Given the description of an element on the screen output the (x, y) to click on. 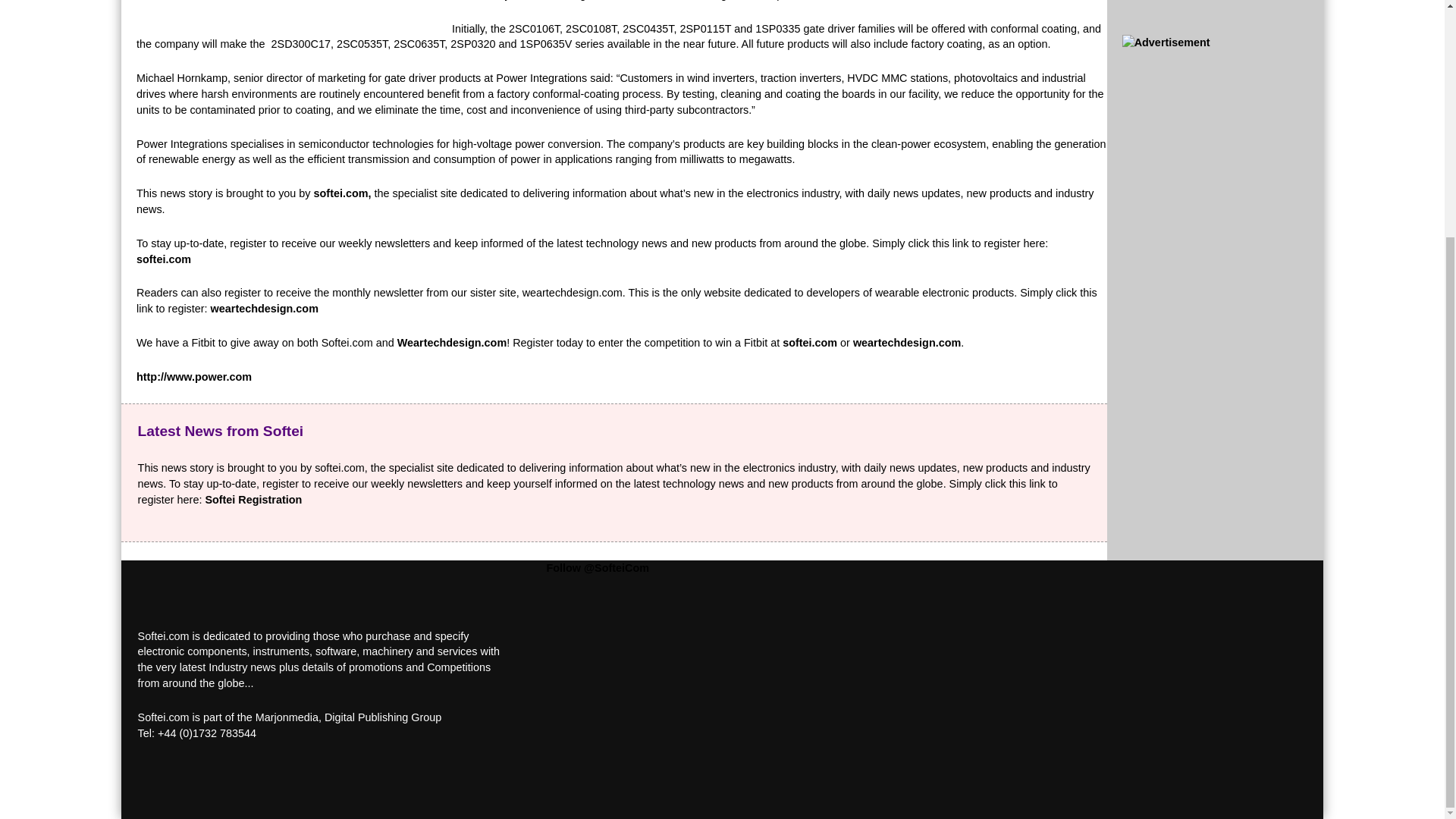
softei.com (163, 259)
Weartechdesign.com (451, 342)
weartechdesign.com (906, 342)
Softei Registration (253, 499)
weartechdesign.com (264, 308)
softei.com (810, 342)
